Given the description of an element on the screen output the (x, y) to click on. 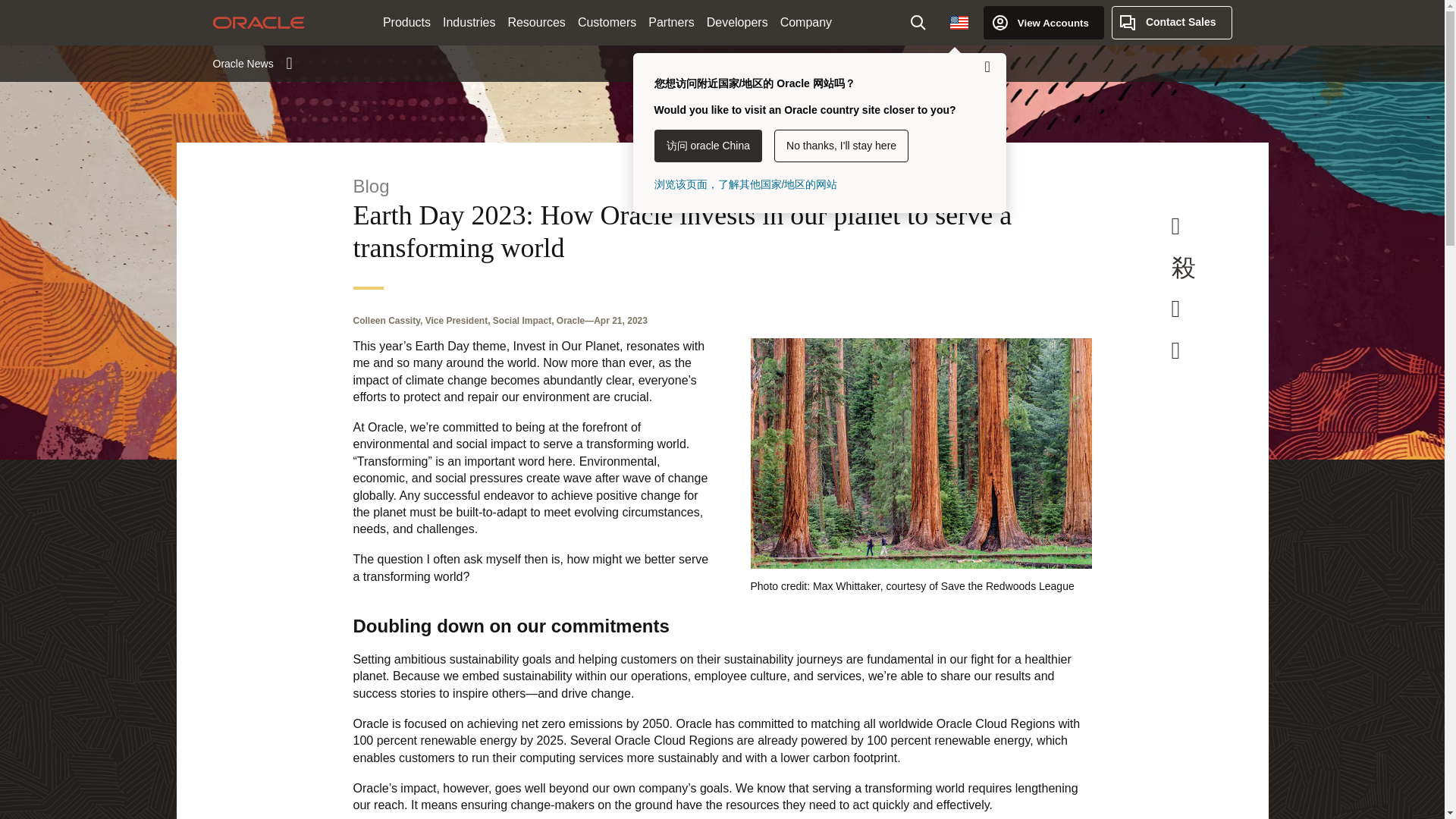
Company (806, 22)
Customers (607, 22)
Developers (737, 22)
View Accounts (1043, 22)
Resources (535, 22)
Contact Sales (1171, 22)
Products (406, 22)
Country (958, 22)
Partners (671, 22)
Oracle News (252, 63)
